Given the description of an element on the screen output the (x, y) to click on. 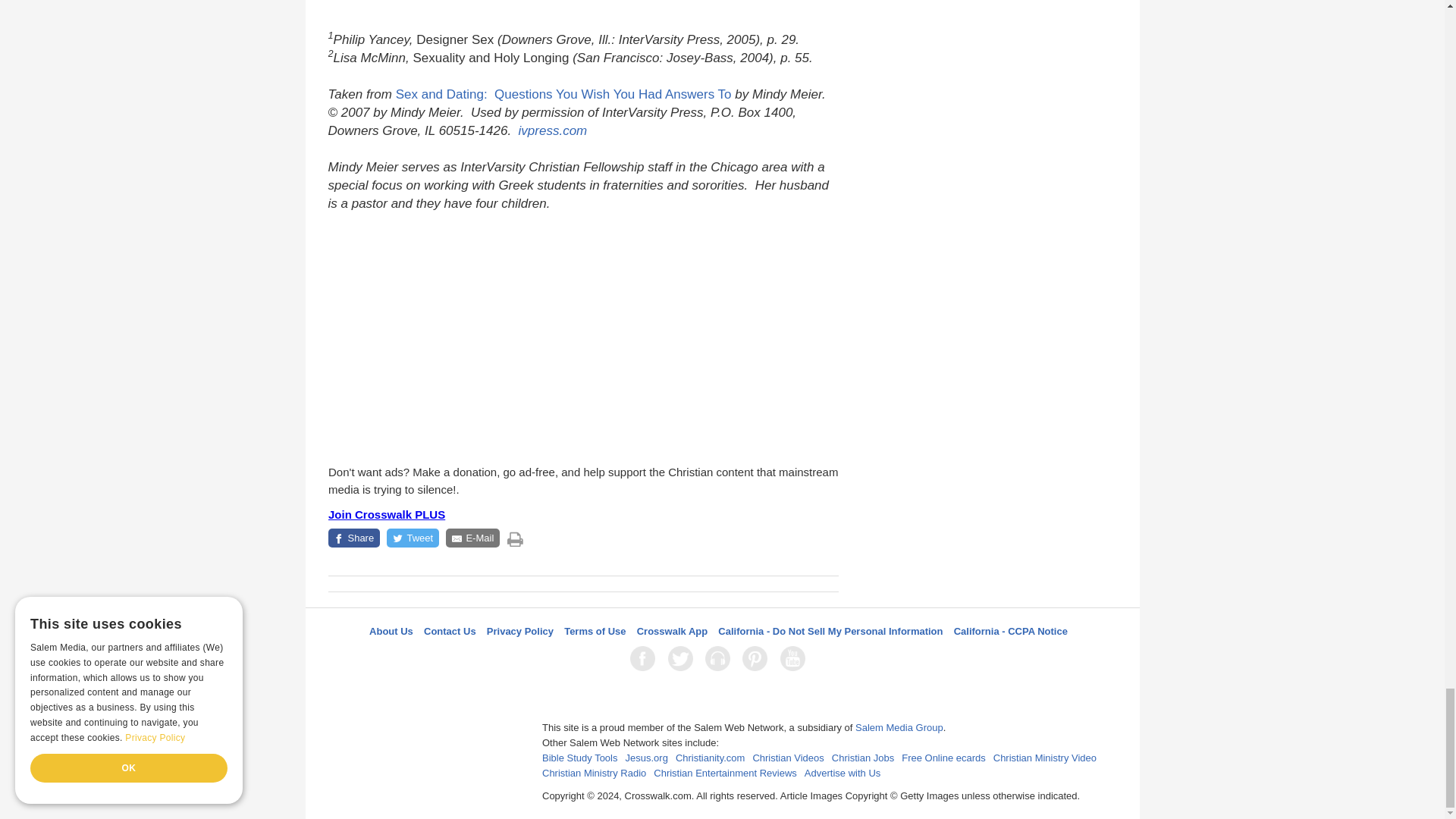
Twitter (683, 658)
LifeAudio (719, 658)
Pinterest (757, 658)
Facebook (645, 658)
YouTube (795, 658)
